Given the description of an element on the screen output the (x, y) to click on. 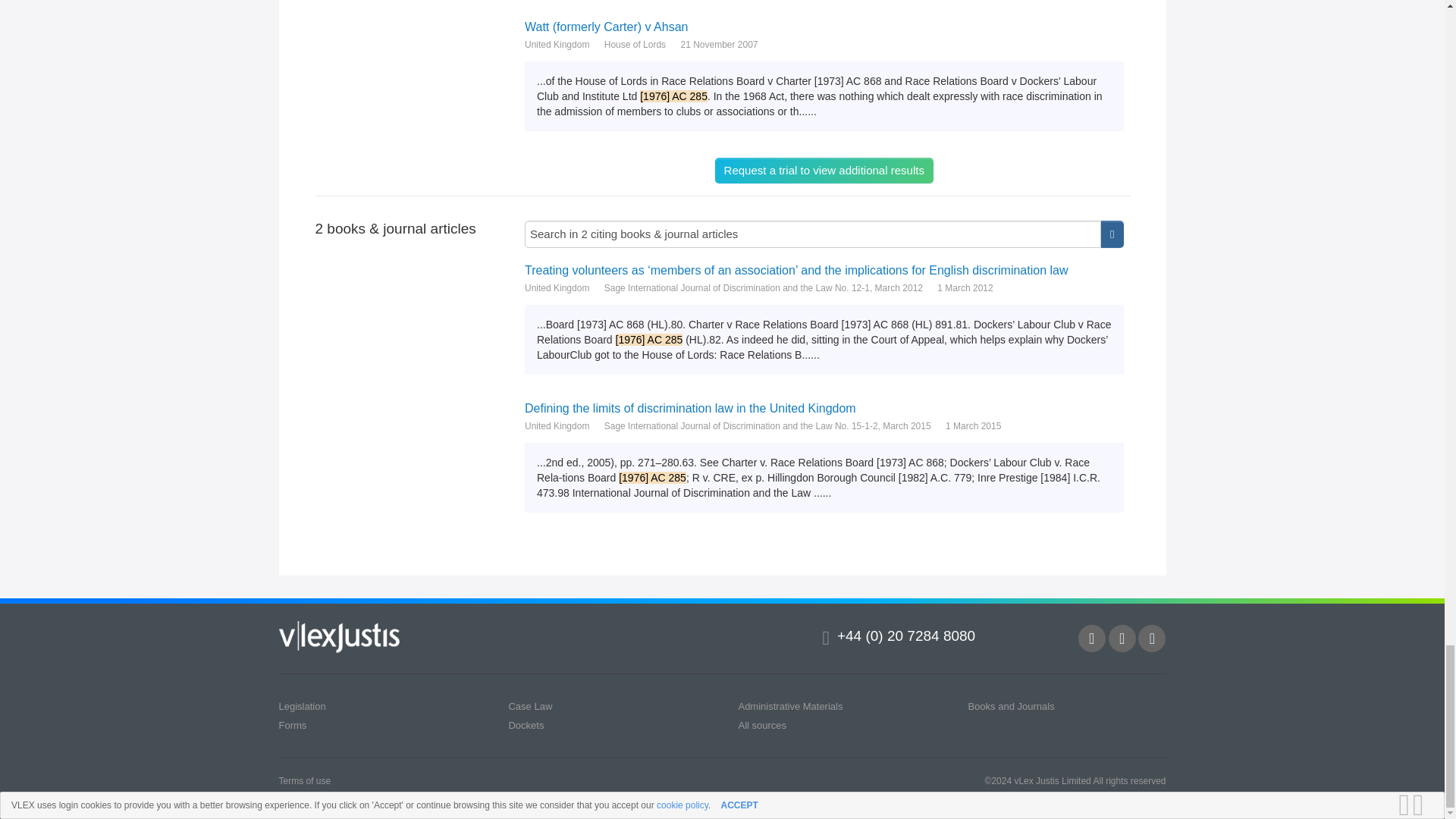
21 November 2007 (718, 44)
United Kingdom (556, 44)
Case Law (529, 706)
Dockets (525, 725)
House of Lords (634, 44)
Legislation (302, 706)
United Kingdom (556, 287)
Forms (293, 725)
